Given the description of an element on the screen output the (x, y) to click on. 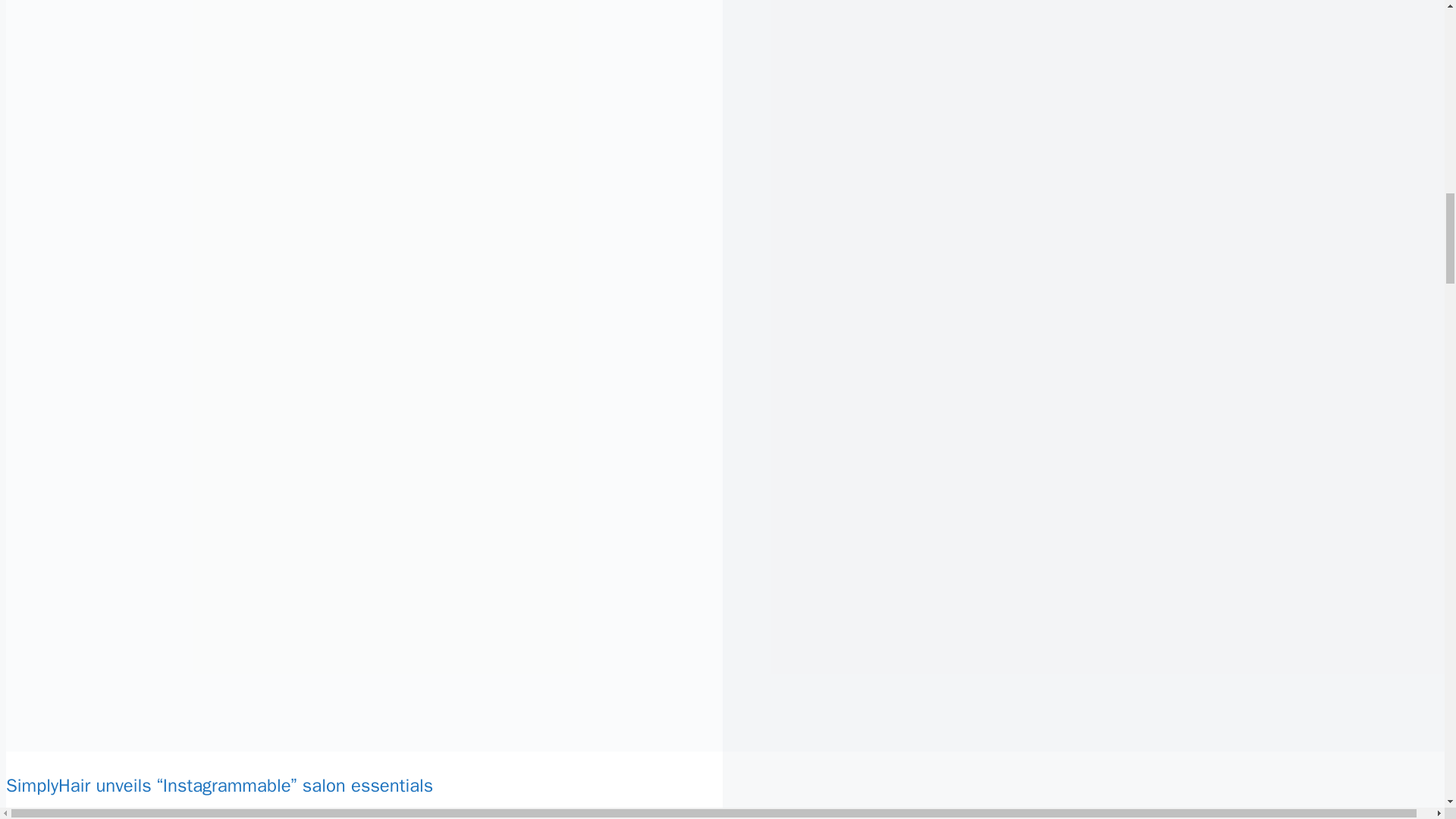
View all posts by Hairdressing.co.uk (248, 817)
